Given the description of an element on the screen output the (x, y) to click on. 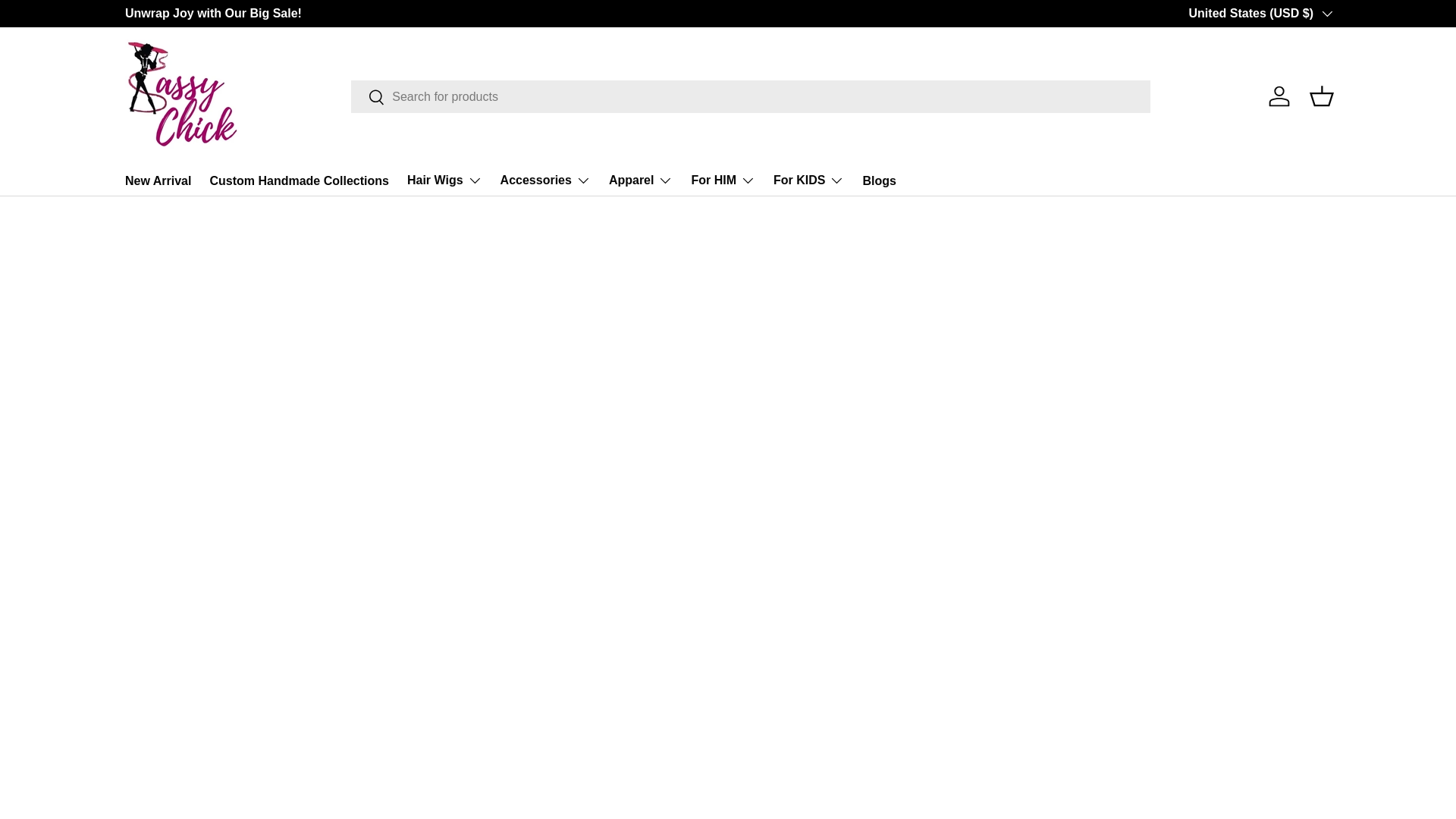
Custom Handmade Collections (298, 180)
Accessories (545, 180)
Search (367, 98)
For HIM (722, 180)
Apparel (640, 180)
Hair Wigs (444, 180)
SKIP TO CONTENT (68, 21)
Log in (1278, 96)
Basket (1321, 96)
New Arrival (157, 180)
